Given the description of an element on the screen output the (x, y) to click on. 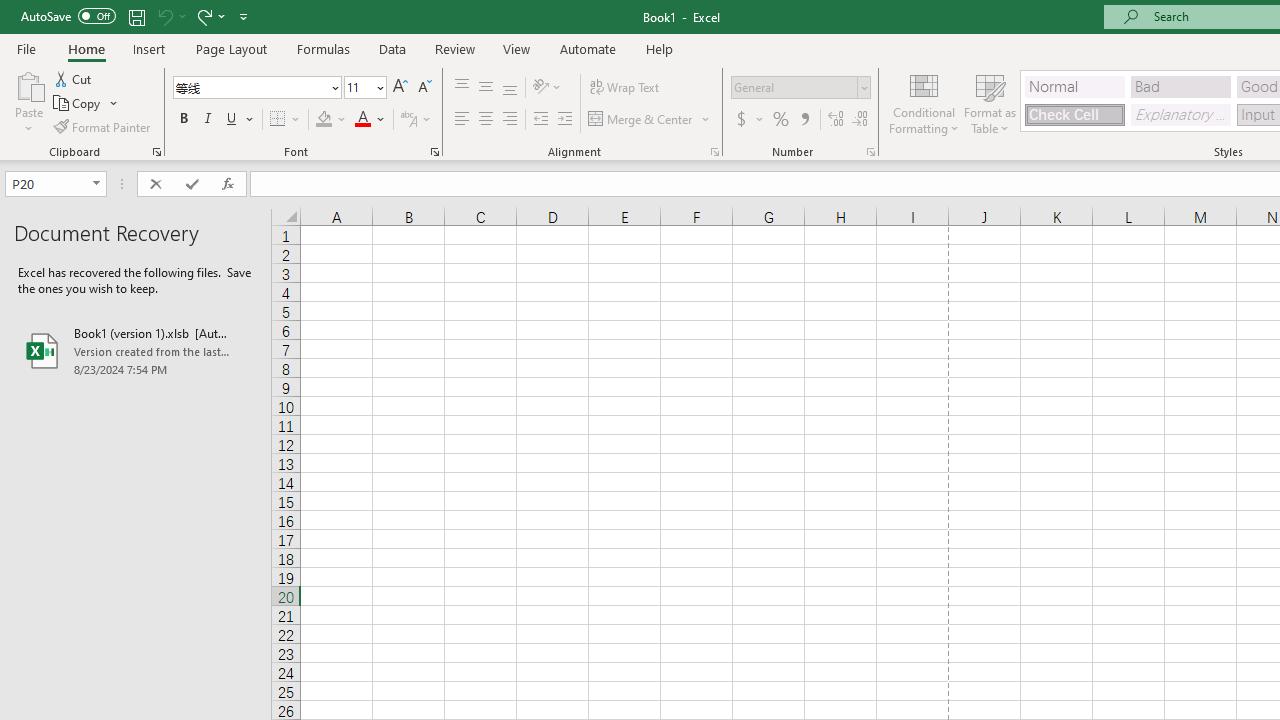
Font Color (370, 119)
Percent Style (781, 119)
Comma Style (804, 119)
Merge & Center (641, 119)
Copy (78, 103)
Fill Color RGB(255, 255, 0) (324, 119)
Decrease Font Size (424, 87)
Wrap Text (624, 87)
Underline (232, 119)
Explanatory Text (1180, 114)
Underline (239, 119)
Font Size (358, 87)
Center (485, 119)
Format as Table (990, 102)
